Given the description of an element on the screen output the (x, y) to click on. 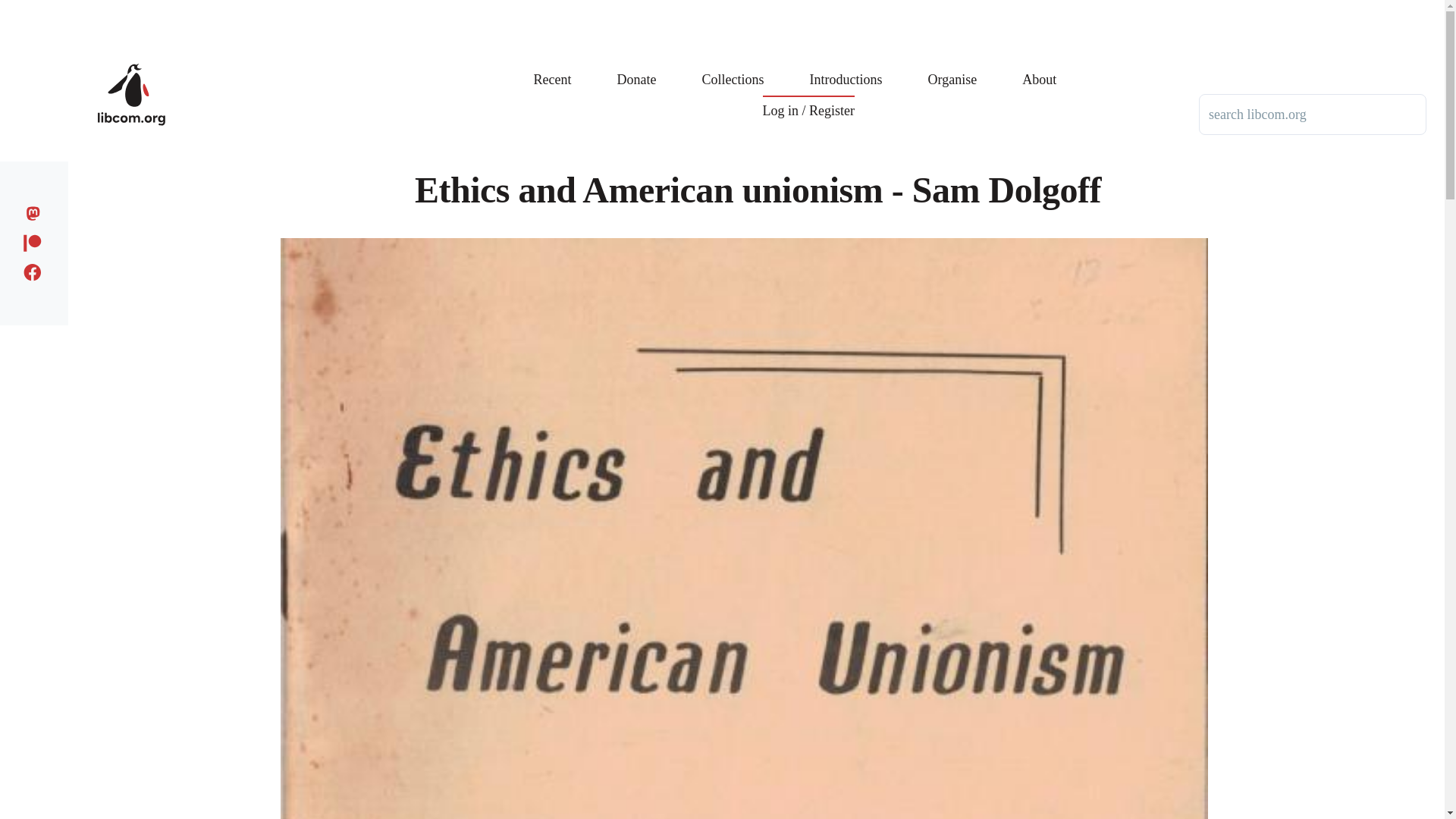
Collections (732, 68)
Follow us on Mastodon (36, 210)
Introductions (845, 68)
Skip to main content (595, 6)
Like us on facebook (36, 269)
Support us on patreon (36, 239)
Organise (952, 68)
